Given the description of an element on the screen output the (x, y) to click on. 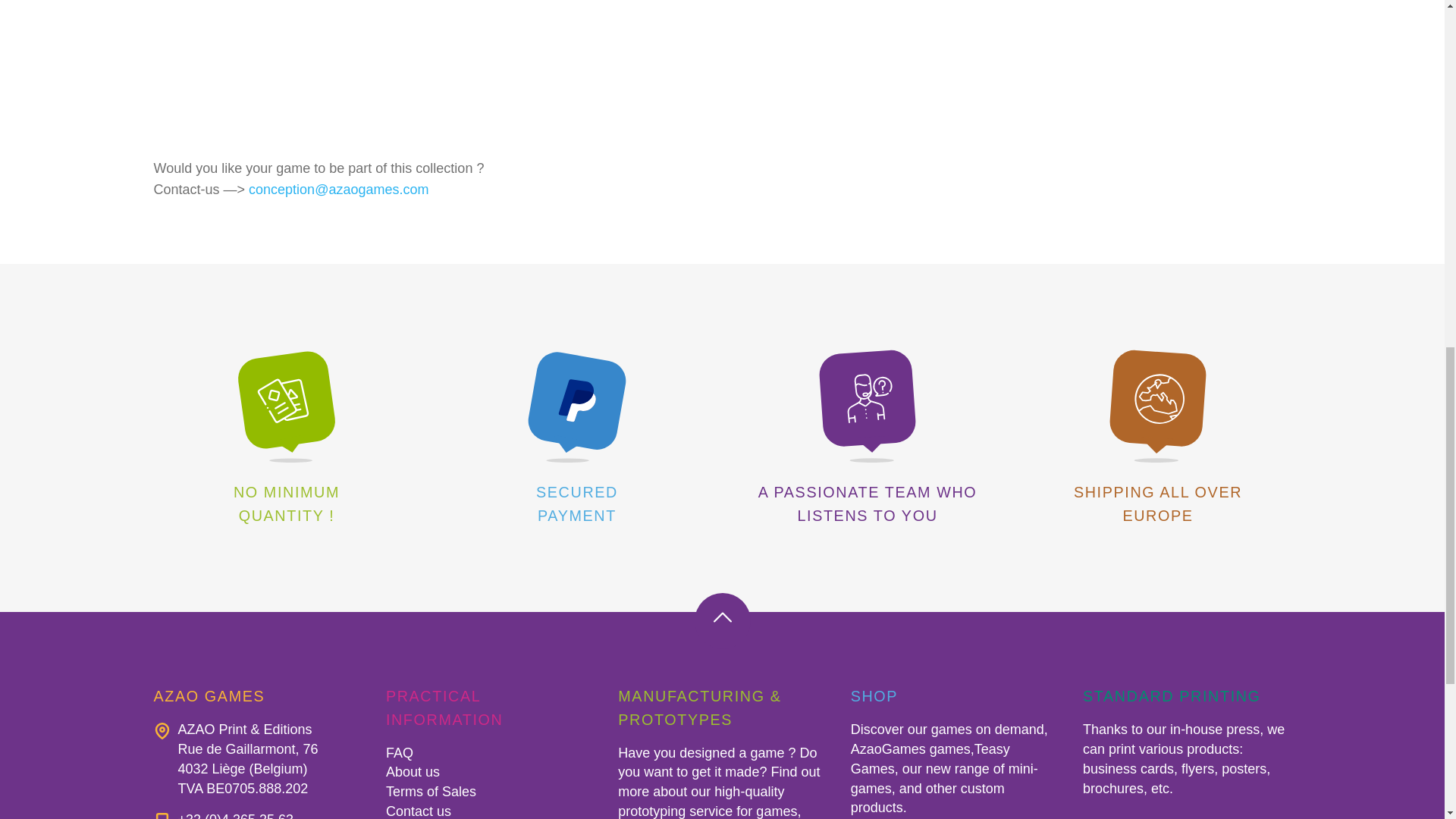
About us (412, 771)
FAQ (399, 752)
Contact us (418, 811)
Terms of Sales (430, 791)
